Given the description of an element on the screen output the (x, y) to click on. 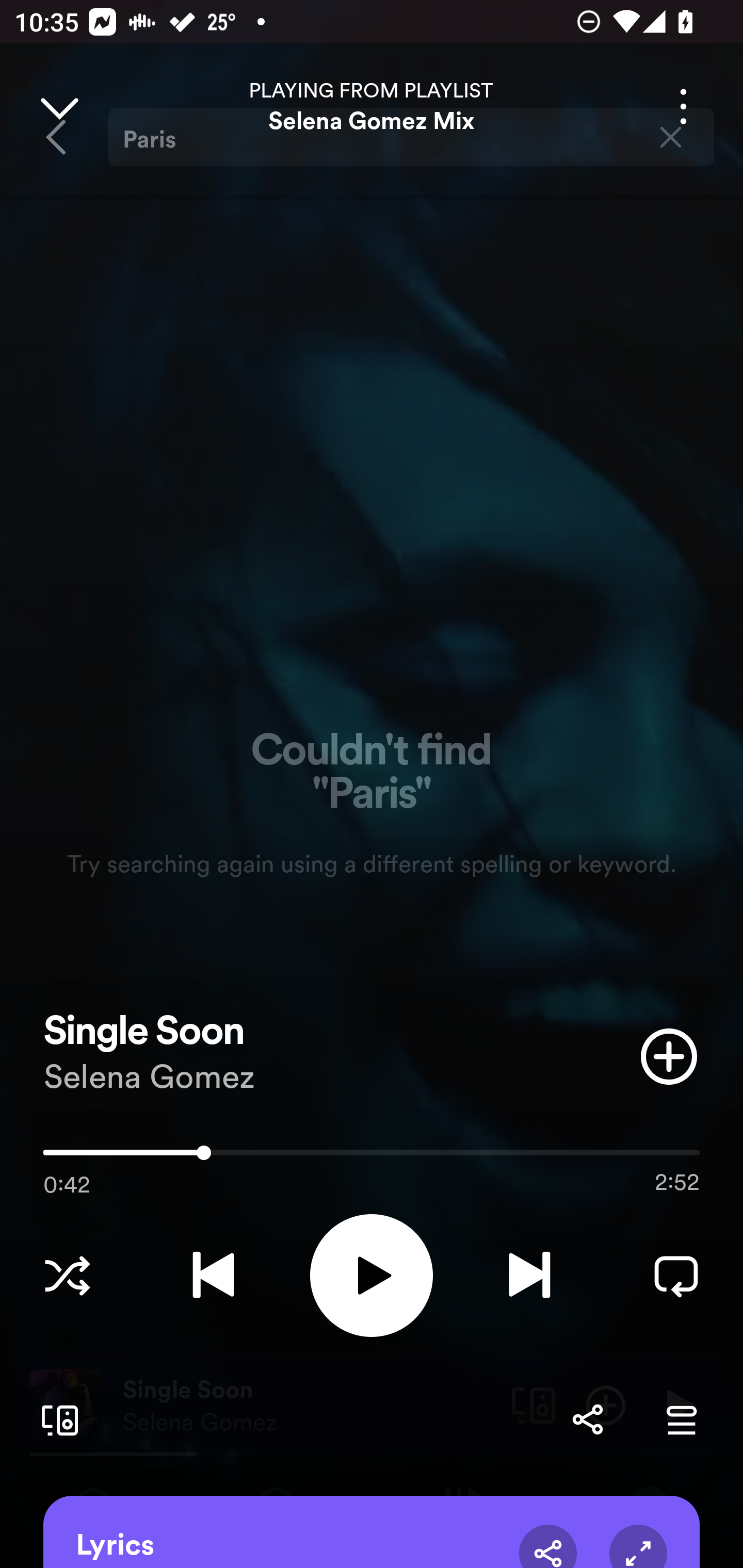
Close (59, 106)
More options for song Single Soon (683, 106)
PLAYING FROM PLAYLIST Selena Gomez Mix (371, 106)
Add item (669, 1056)
0:42 2:52 42110.0 Use volume keys to adjust (371, 1157)
Play (371, 1275)
Previous (212, 1275)
Next (529, 1275)
Choose a Listening Mode (66, 1275)
Repeat (676, 1275)
Share (587, 1419)
Go to Queue (681, 1419)
Connect to a device. Opens the devices menu (55, 1419)
Lyrics Share Expand (371, 1531)
Share (547, 1546)
Expand (638, 1546)
